Given the description of an element on the screen output the (x, y) to click on. 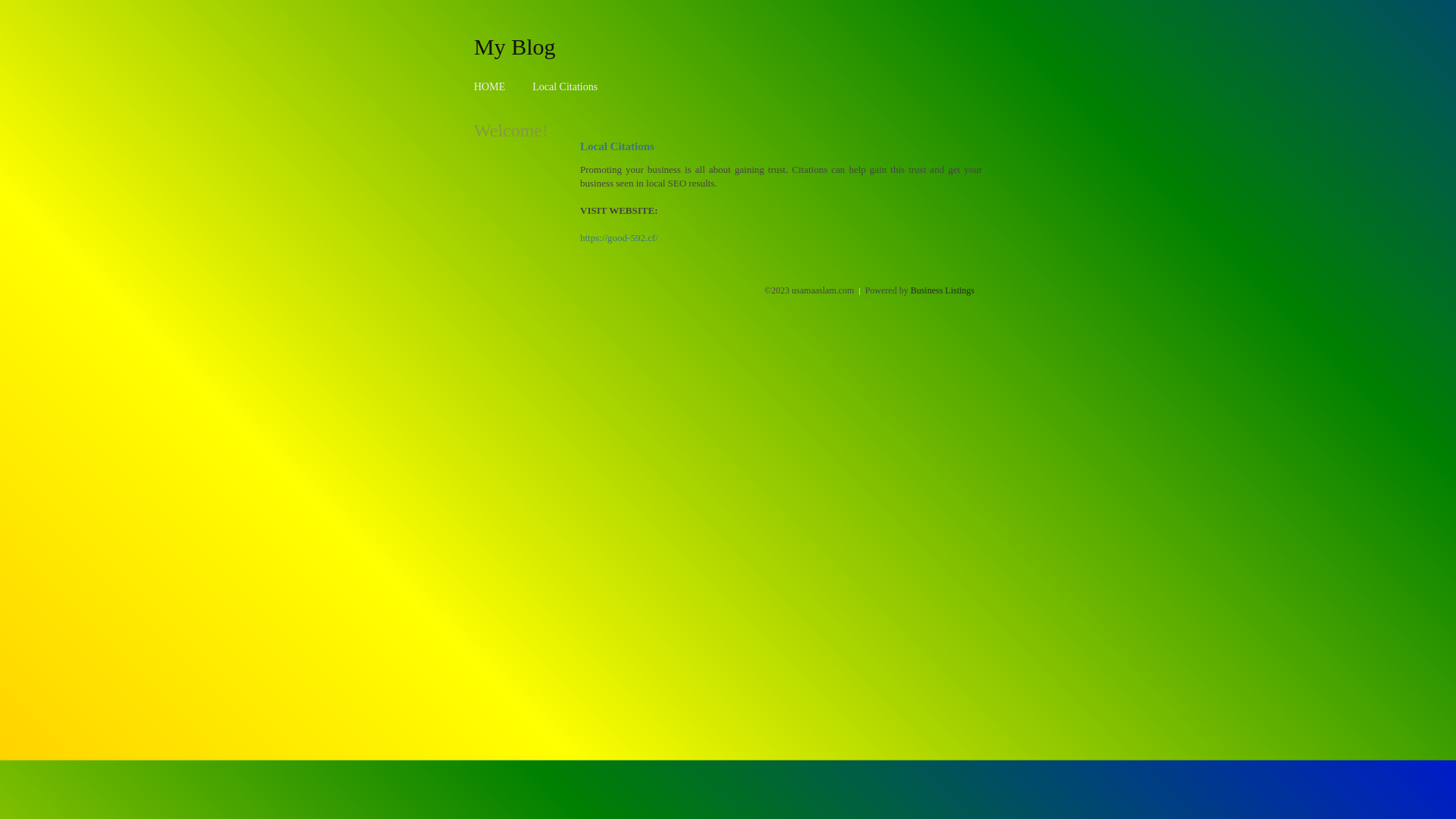
https://good-592.cf/ Element type: text (619, 237)
Business Listings Element type: text (942, 290)
HOME Element type: text (489, 86)
Local Citations Element type: text (564, 86)
My Blog Element type: text (514, 46)
